Given the description of an element on the screen output the (x, y) to click on. 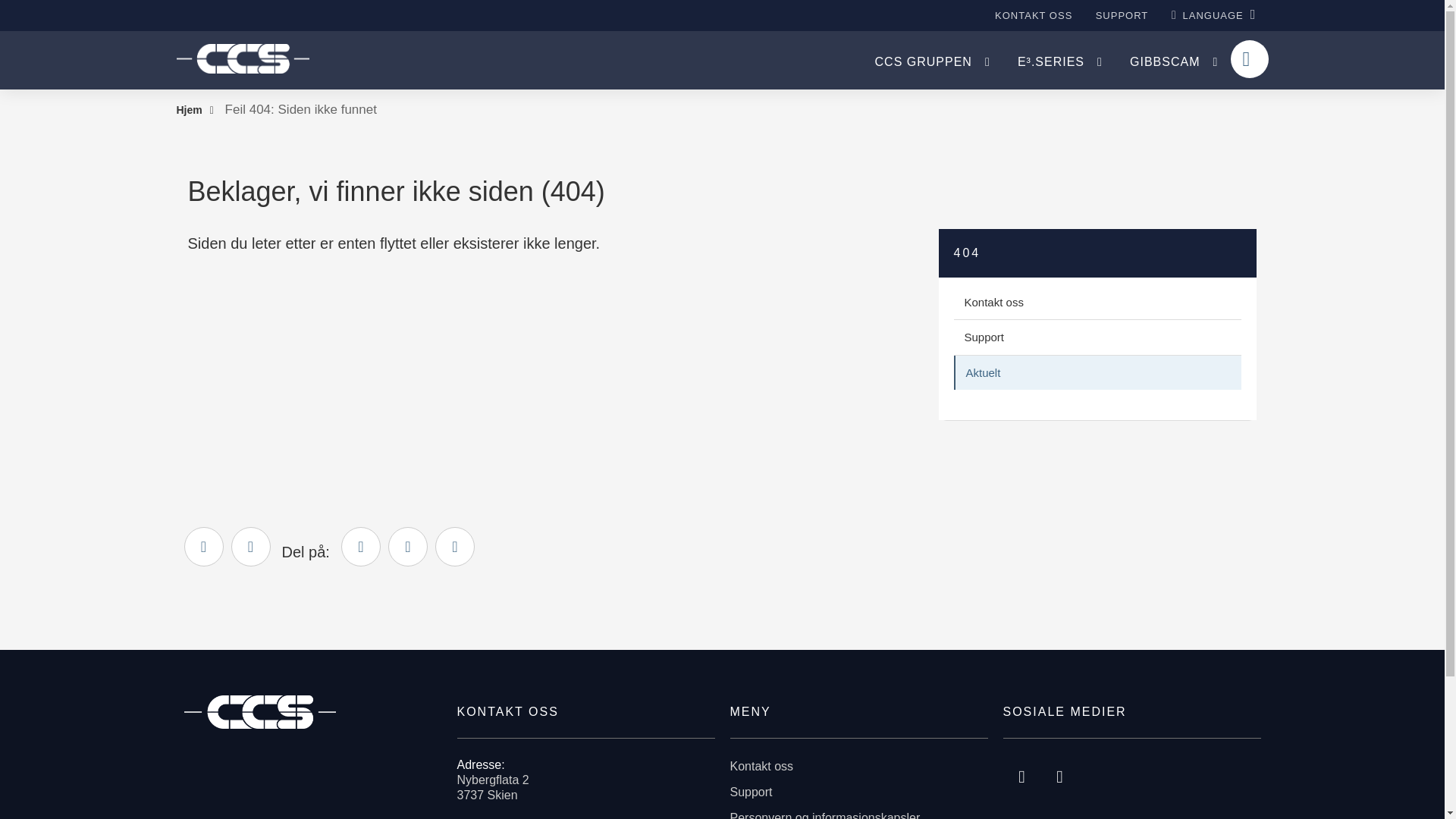
KONTAKT OSS (1032, 15)
CCS GRUPPEN (931, 60)
LANGUAGE (1213, 14)
SUPPORT (1122, 15)
